Given the description of an element on the screen output the (x, y) to click on. 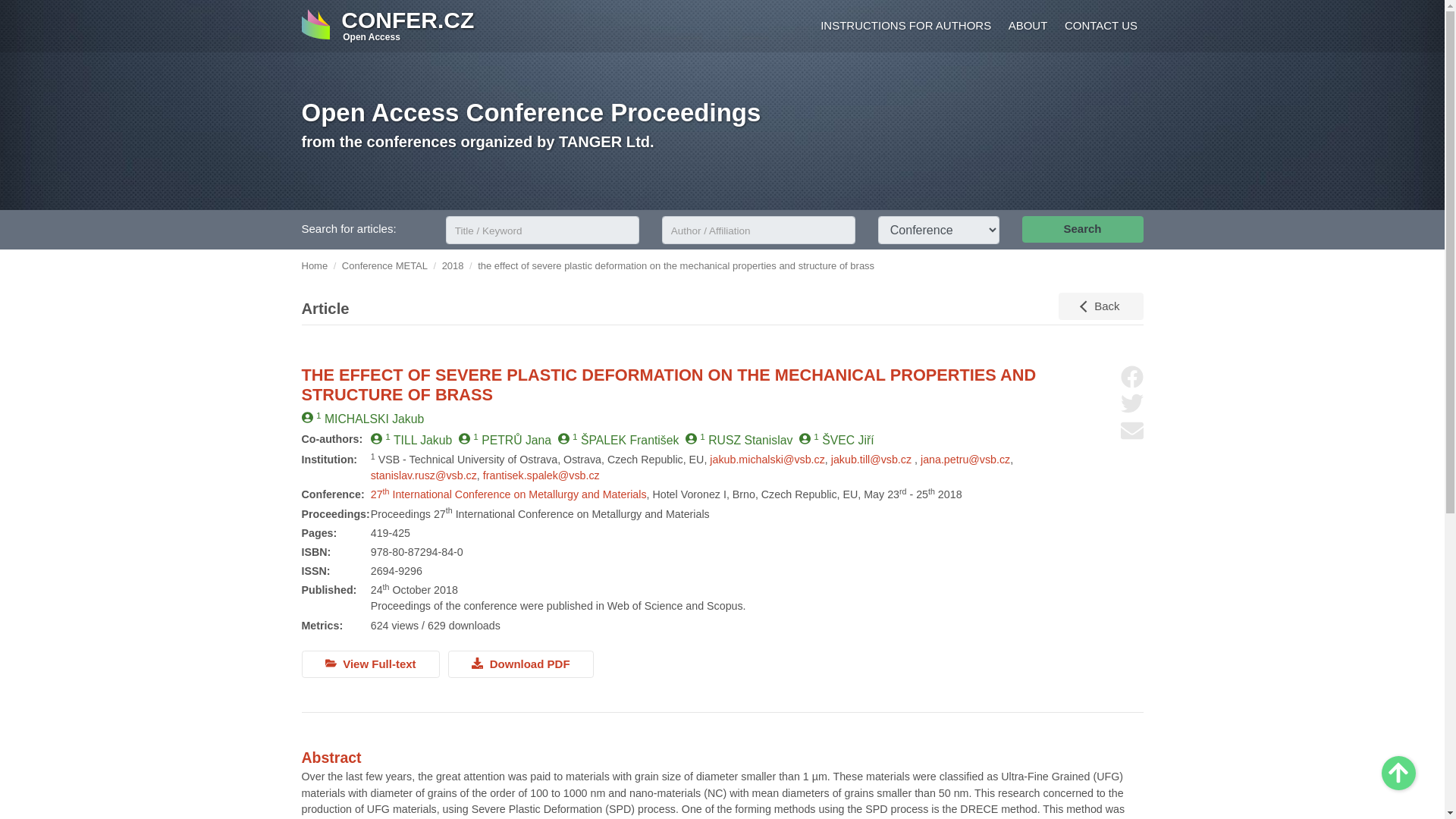
Scroll to Top (1398, 772)
2018 (453, 265)
INSTRUCTIONS FOR AUTHORS (903, 26)
Back (1100, 306)
Share on Facebook (1131, 376)
Home (315, 265)
Download PDF (521, 664)
Share on Twitter (1131, 403)
27th International Conference on Metallurgy and Materials (508, 494)
Scroll to Top (1398, 772)
Open Access Conference Proceedings (531, 112)
Search (1082, 229)
ABOUT (1024, 26)
Send by email (1131, 430)
View Full-text (370, 664)
